Given the description of an element on the screen output the (x, y) to click on. 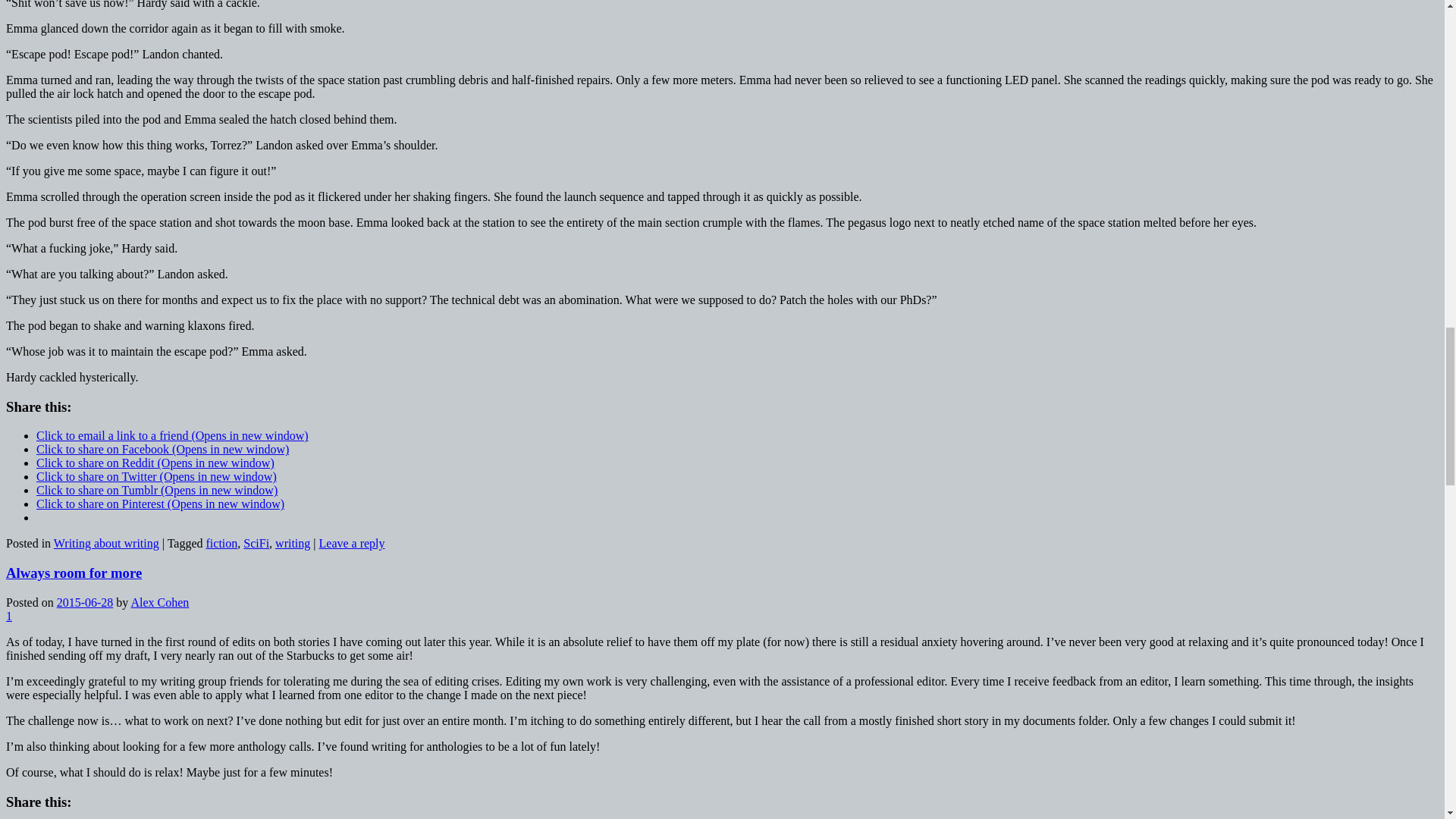
Click to share on Facebook (162, 449)
Leave a reply (351, 543)
writing (292, 543)
Click to share on Tumblr (157, 490)
Click to share on Twitter (156, 476)
Click to email a link to a friend (172, 435)
fiction (222, 543)
Writing about writing (105, 543)
Always room for more (73, 572)
Click to share on Pinterest (159, 503)
SciFi (256, 543)
Click to share on Reddit (155, 462)
